Given the description of an element on the screen output the (x, y) to click on. 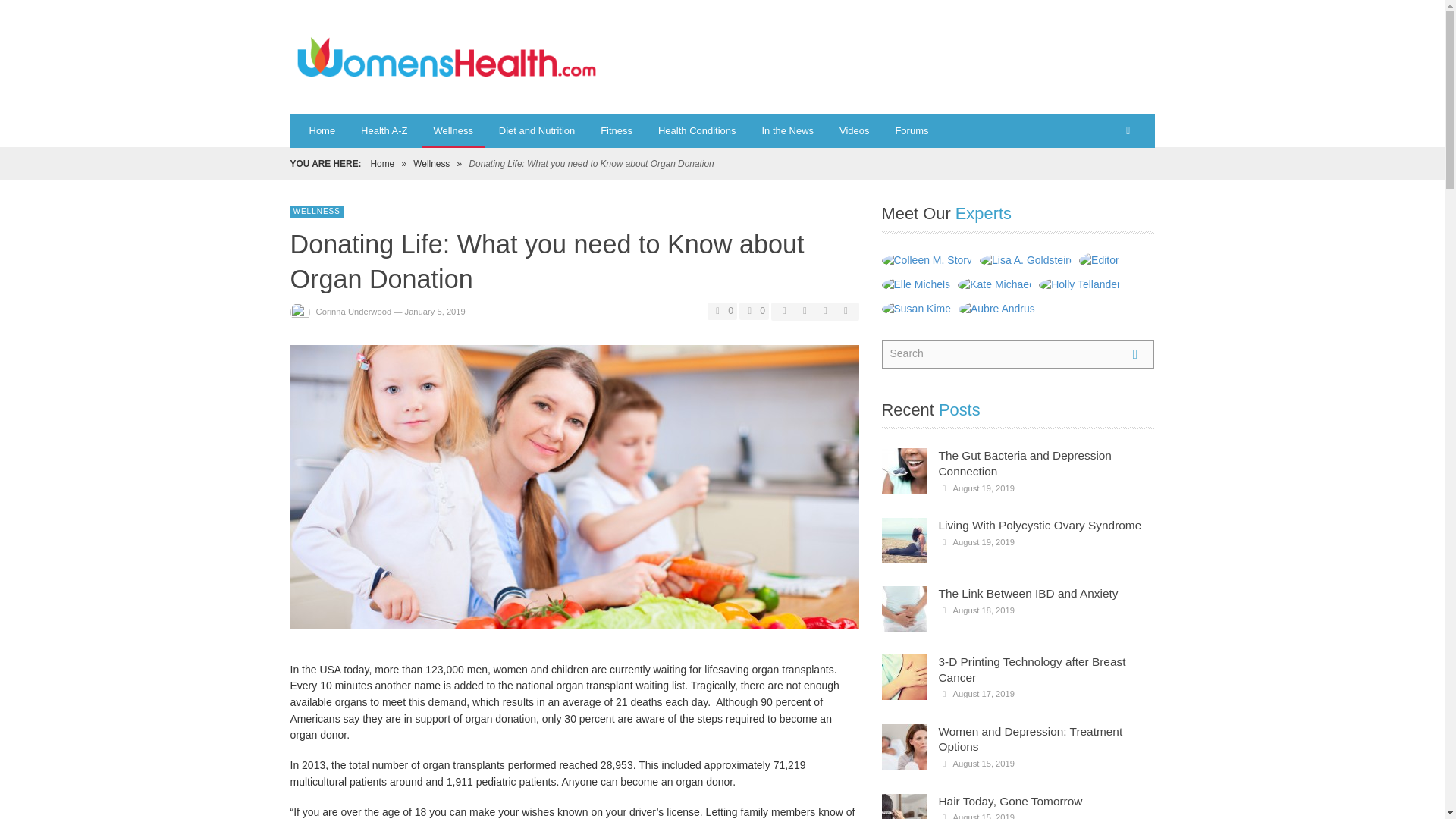
View all posts by Corinna Underwood (353, 311)
WELLNESS (315, 211)
Wellness (431, 163)
Diet and Nutrition (536, 130)
Permalink to Kate Michael (996, 284)
Permalink to Editor (1100, 259)
Corinna Underwood (353, 311)
Permalink to Lisa A. Goldstein (1027, 259)
Forums (911, 130)
View all posts in Wellness (315, 211)
January 5, 2019 (434, 311)
Share on Facebook (783, 310)
Videos (854, 130)
Share on Pinterest (844, 310)
Health A-Z (384, 130)
